Given the description of an element on the screen output the (x, y) to click on. 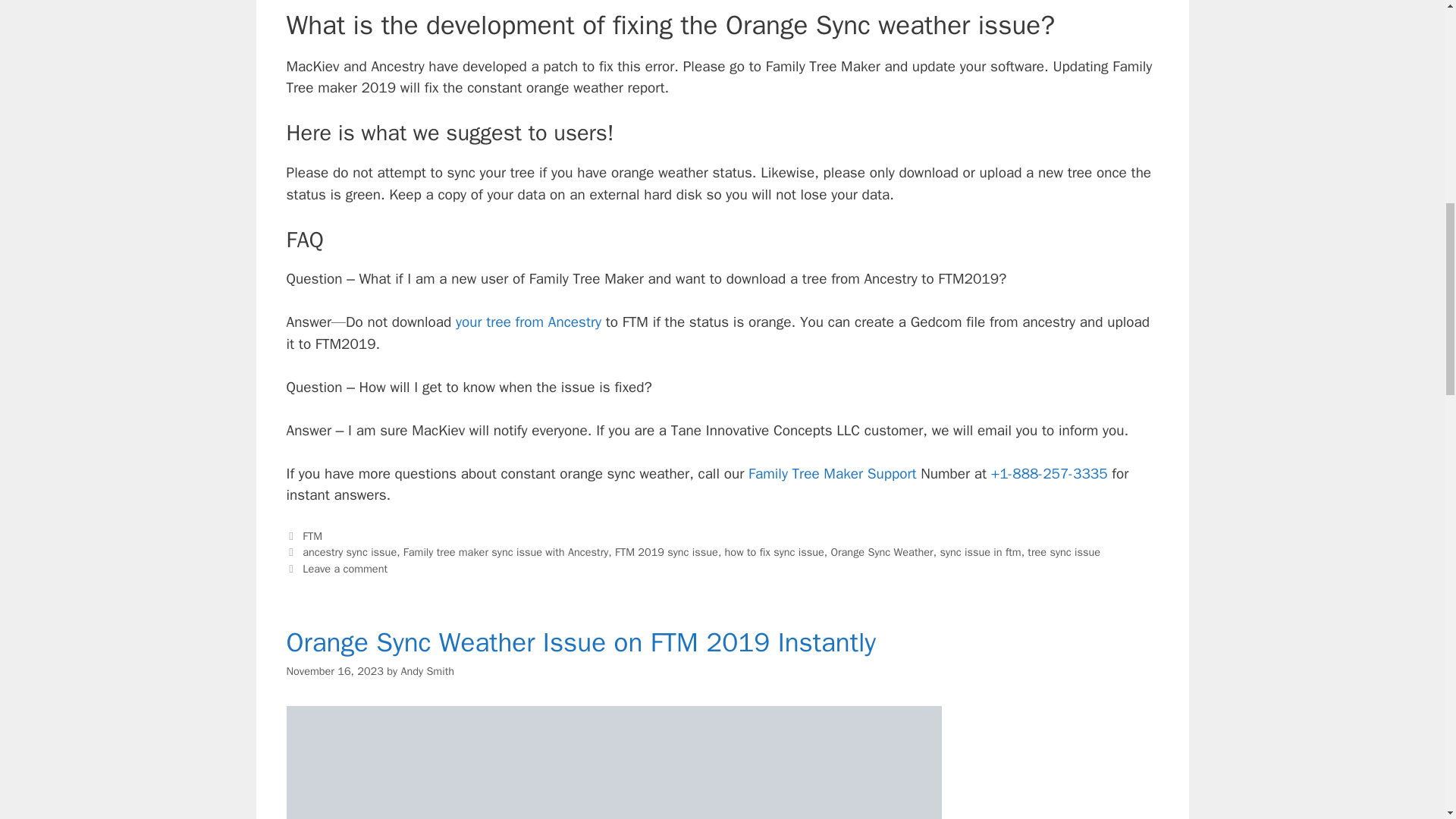
Orange Sync Weather (881, 551)
Orange Sync Weather Issue on FTM 2019 Instantly (581, 642)
tree sync issue (1063, 551)
FTM 2019 sync issue (665, 551)
Andy Smith (427, 671)
Family Tree Maker Support (832, 474)
FTM (311, 535)
Leave a comment (344, 568)
your tree from Ancestry (530, 321)
sync issue in ftm (979, 551)
how to fix sync issue (774, 551)
ancestry sync issue (349, 551)
View all posts by Andy Smith (427, 671)
Family tree maker sync issue with Ancestry (505, 551)
